Given the description of an element on the screen output the (x, y) to click on. 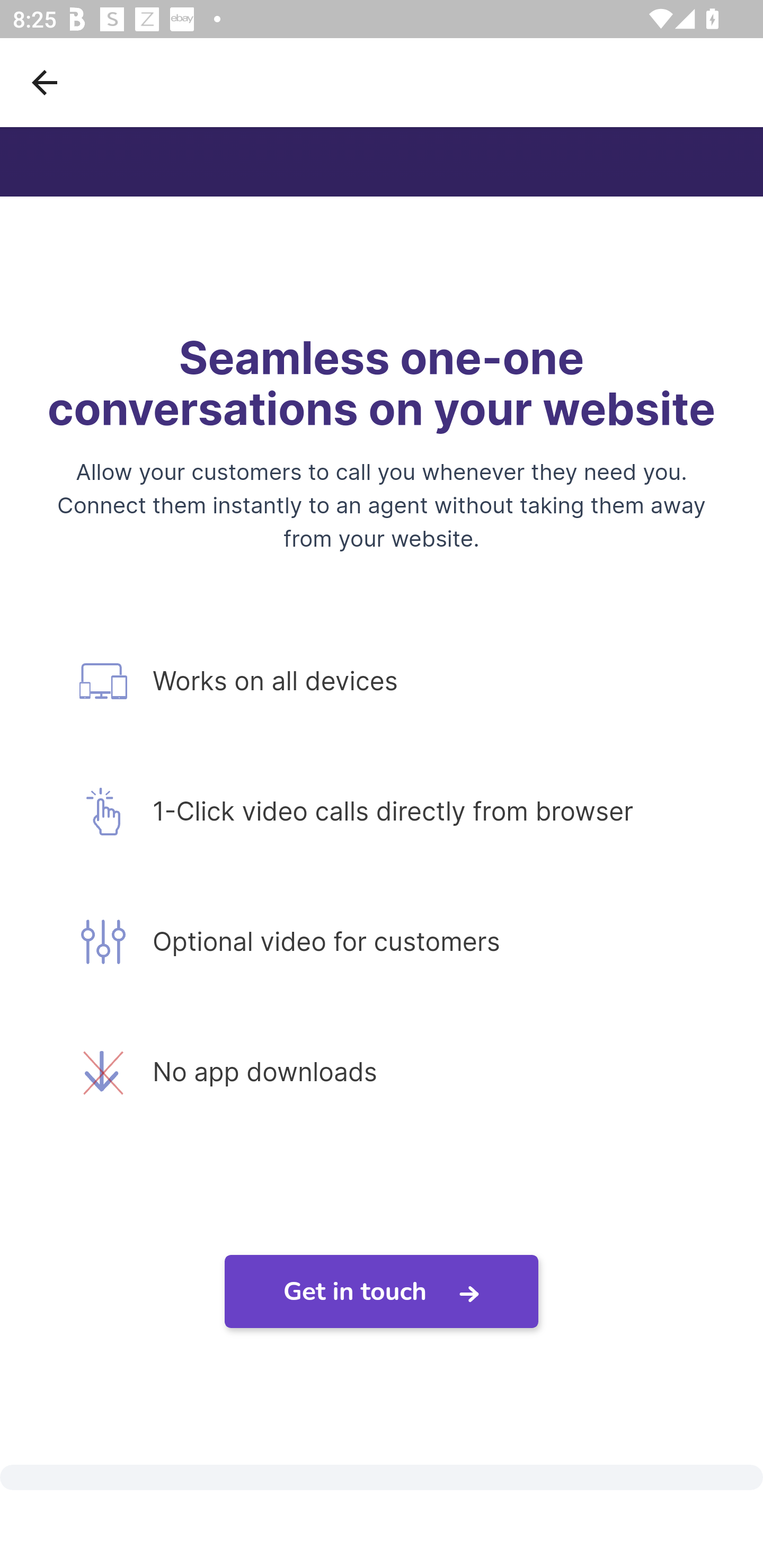
Navigate up (44, 82)
